Given the description of an element on the screen output the (x, y) to click on. 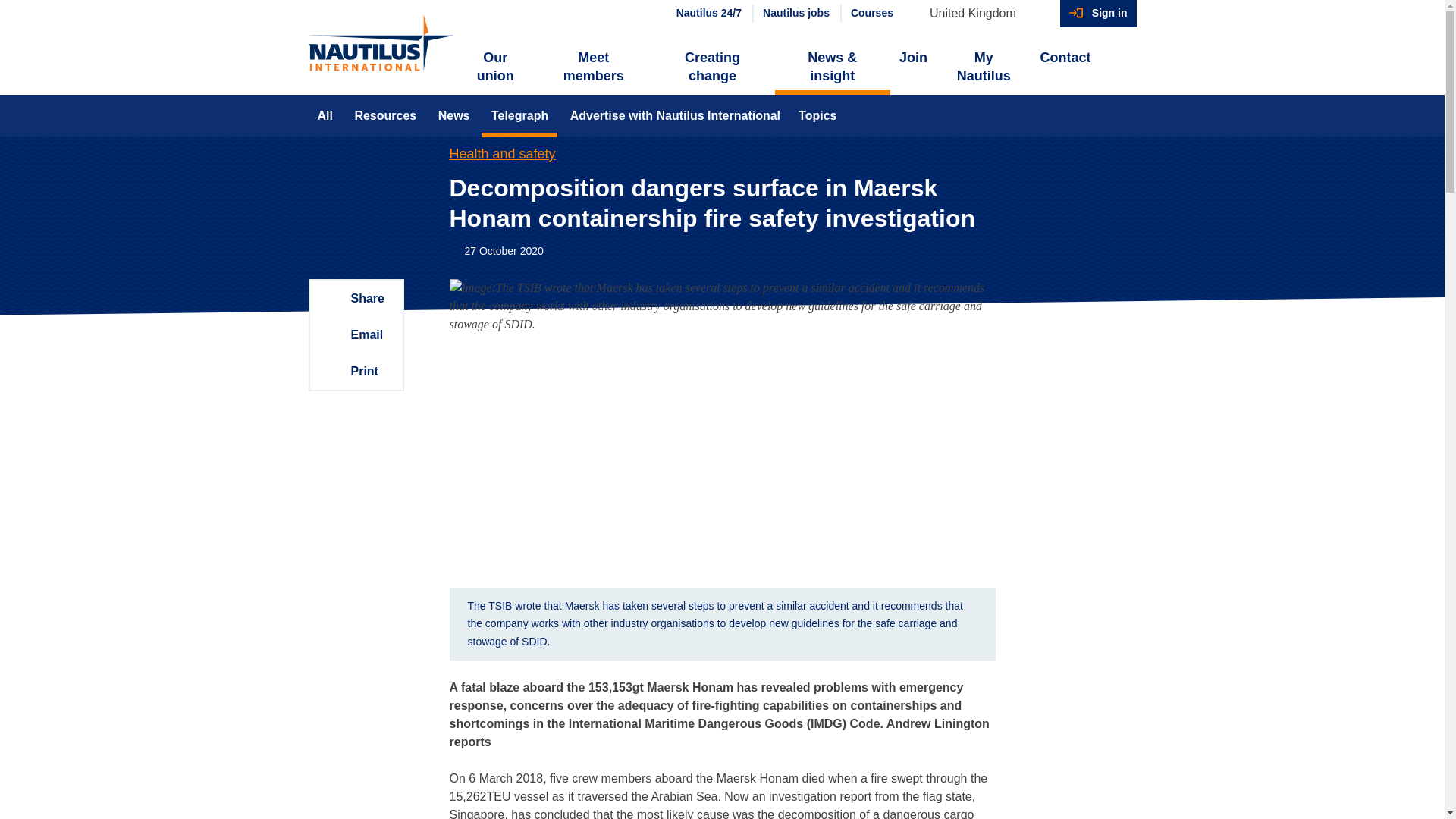
United Kingdom (979, 13)
Nautilus jobs (795, 13)
Courses (871, 13)
Meet members (593, 67)
Creating change (711, 67)
My Nautilus (983, 67)
Sign in (1098, 13)
Contact (1065, 58)
Our union (495, 67)
Join (912, 58)
